Given the description of an element on the screen output the (x, y) to click on. 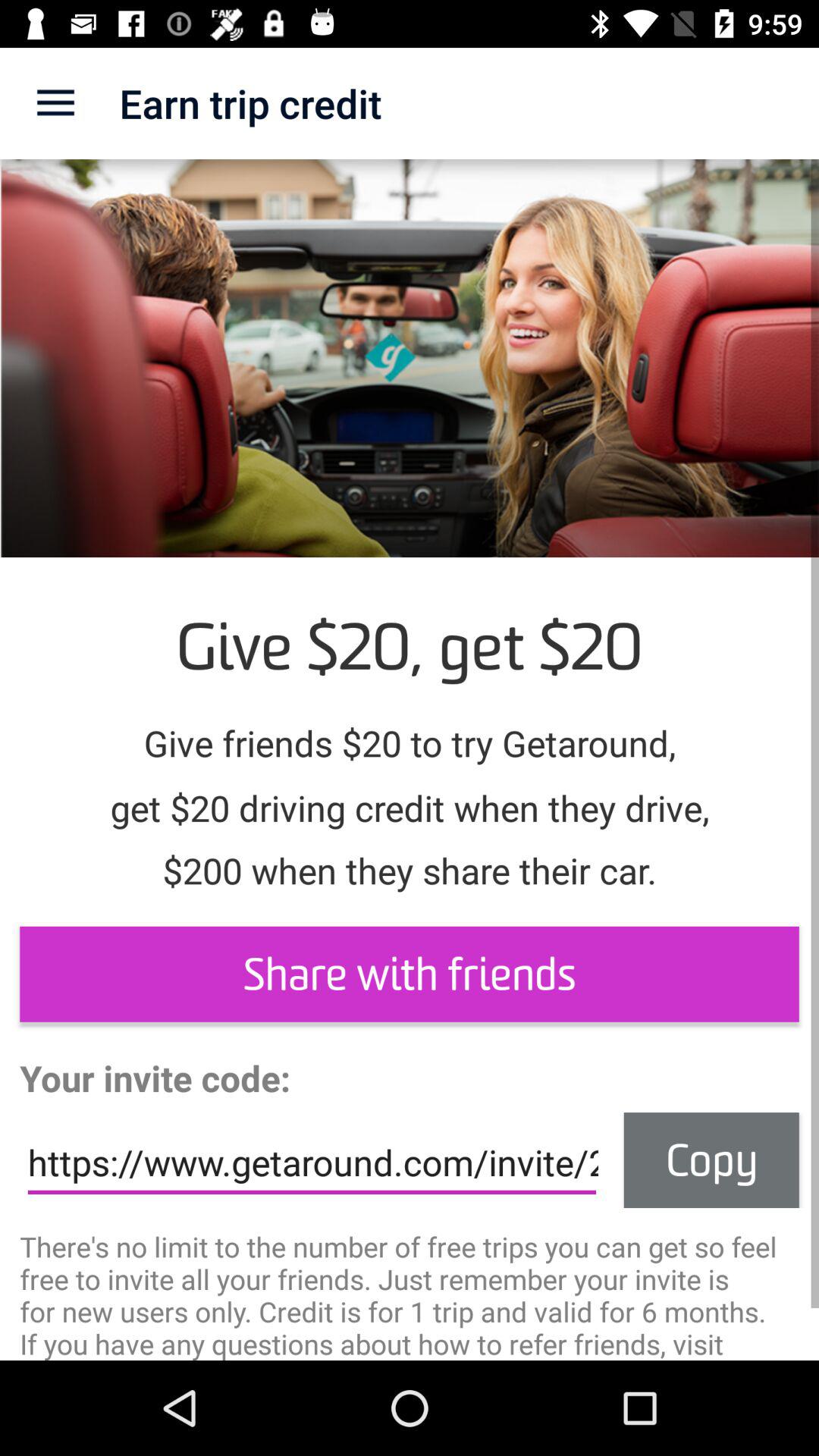
click the copy (711, 1160)
